Given the description of an element on the screen output the (x, y) to click on. 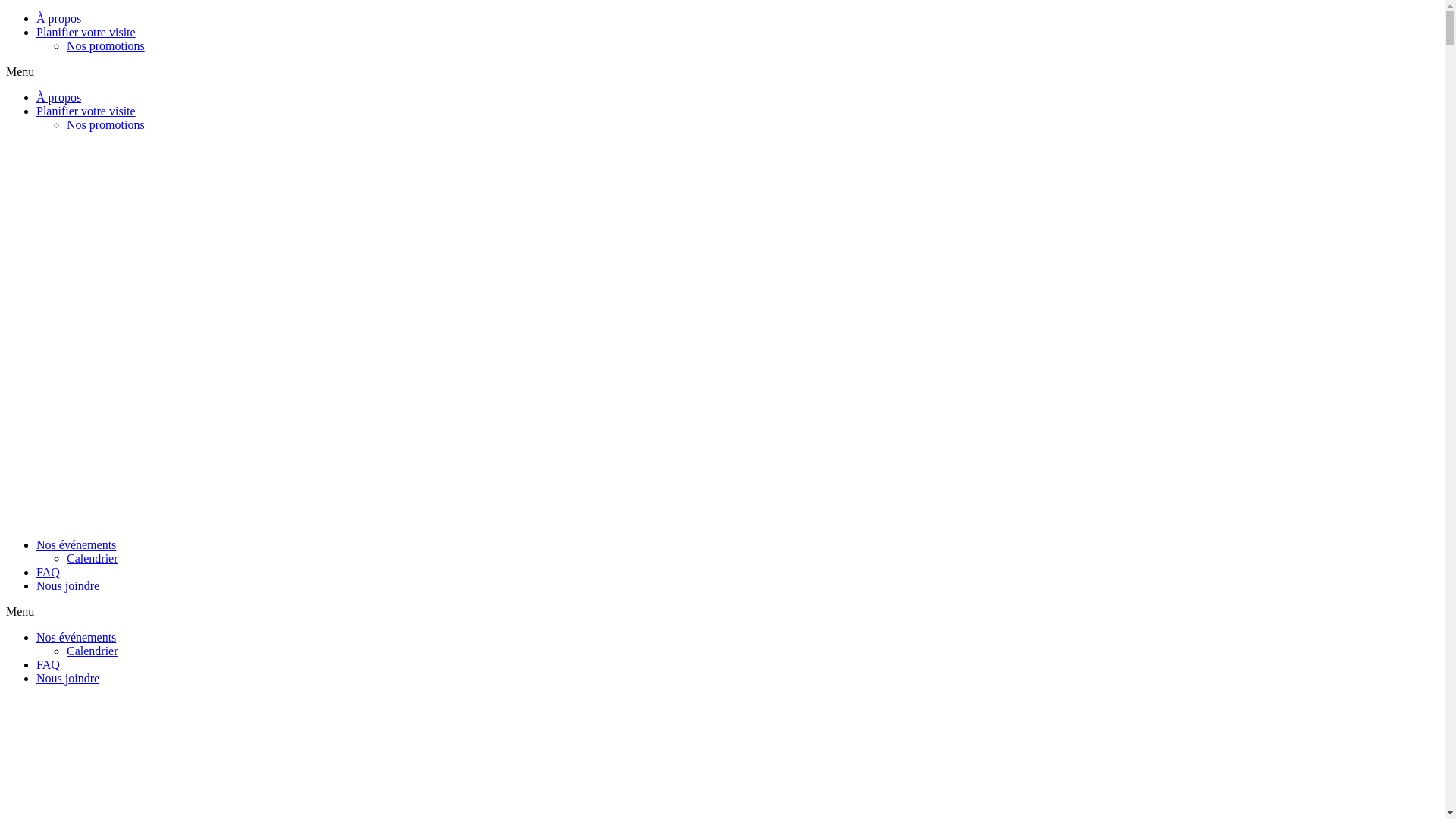
Planifier votre visite Element type: text (85, 110)
Aller au contenu Element type: text (5, 11)
Planifier votre visite Element type: text (85, 31)
Calendrier Element type: text (92, 650)
Nous joindre Element type: text (67, 585)
FAQ Element type: text (47, 664)
FAQ Element type: text (47, 571)
Nos promotions Element type: text (105, 45)
Nos promotions Element type: text (105, 124)
Nous joindre Element type: text (67, 677)
Calendrier Element type: text (92, 558)
